Given the description of an element on the screen output the (x, y) to click on. 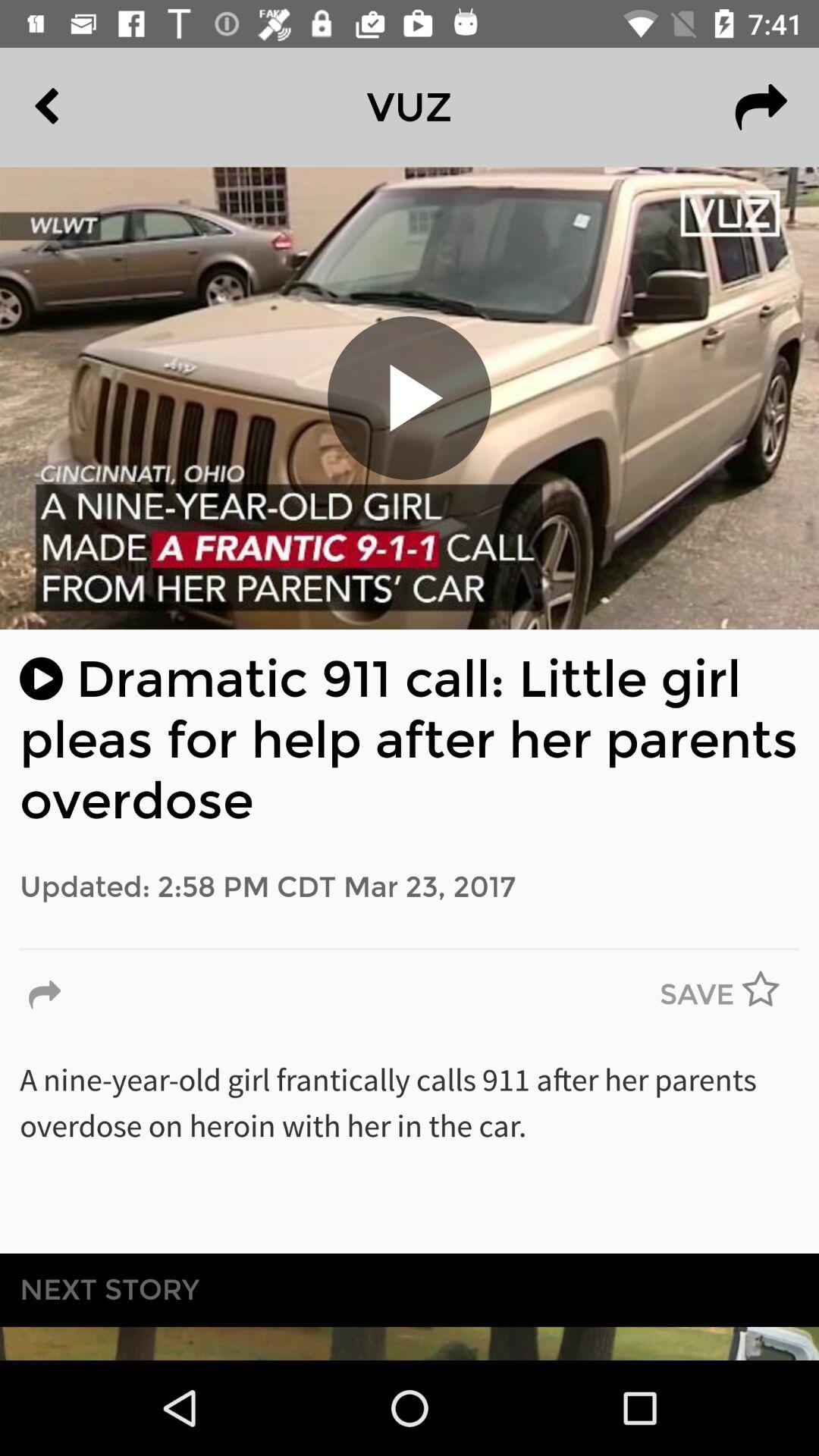
launch the a nine year (409, 1146)
